Given the description of an element on the screen output the (x, y) to click on. 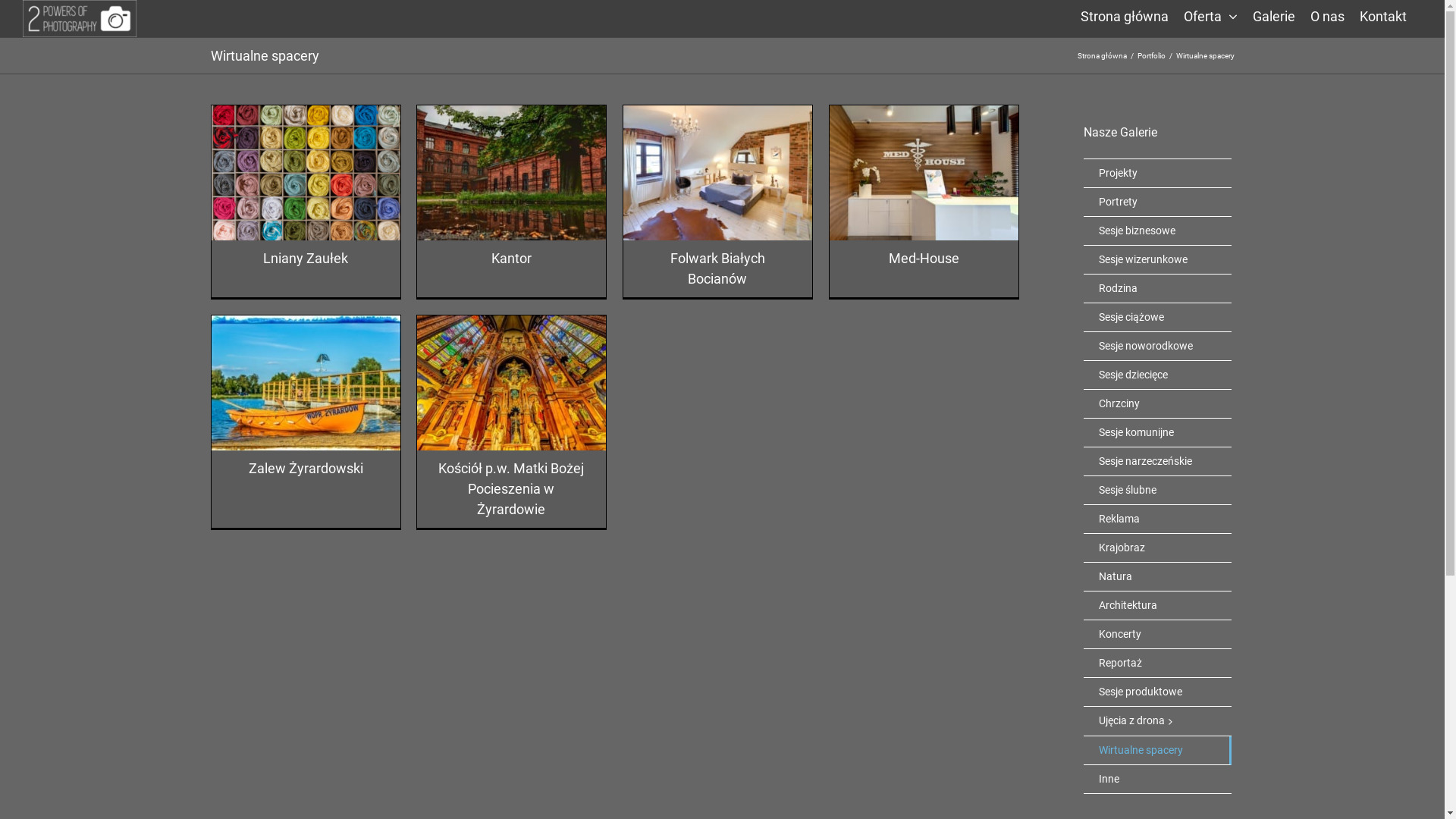
Wirtualne spacery Element type: text (1157, 750)
Inne Element type: text (1157, 779)
Portrety Element type: text (1157, 202)
Sesje biznesowe Element type: text (1157, 230)
Sesje wizerunkowe Element type: text (1157, 259)
Projekty Element type: text (1157, 173)
Sesje komunijne Element type: text (1157, 432)
Kontakt Element type: text (1382, 15)
Galerie Element type: text (1273, 15)
Natura Element type: text (1157, 576)
Kantor Element type: text (511, 258)
Portfolio Element type: text (1151, 55)
Oferta Element type: text (1210, 15)
O nas Element type: text (1327, 15)
Rodzina Element type: text (1157, 288)
Koncerty Element type: text (1157, 634)
Krajobraz Element type: text (1157, 547)
Architektura Element type: text (1157, 605)
Reklama Element type: text (1157, 519)
Sesje produktowe Element type: text (1157, 691)
Sesje noworodkowe Element type: text (1157, 346)
Chrzciny Element type: text (1157, 403)
Med-House Element type: text (923, 258)
